Given the description of an element on the screen output the (x, y) to click on. 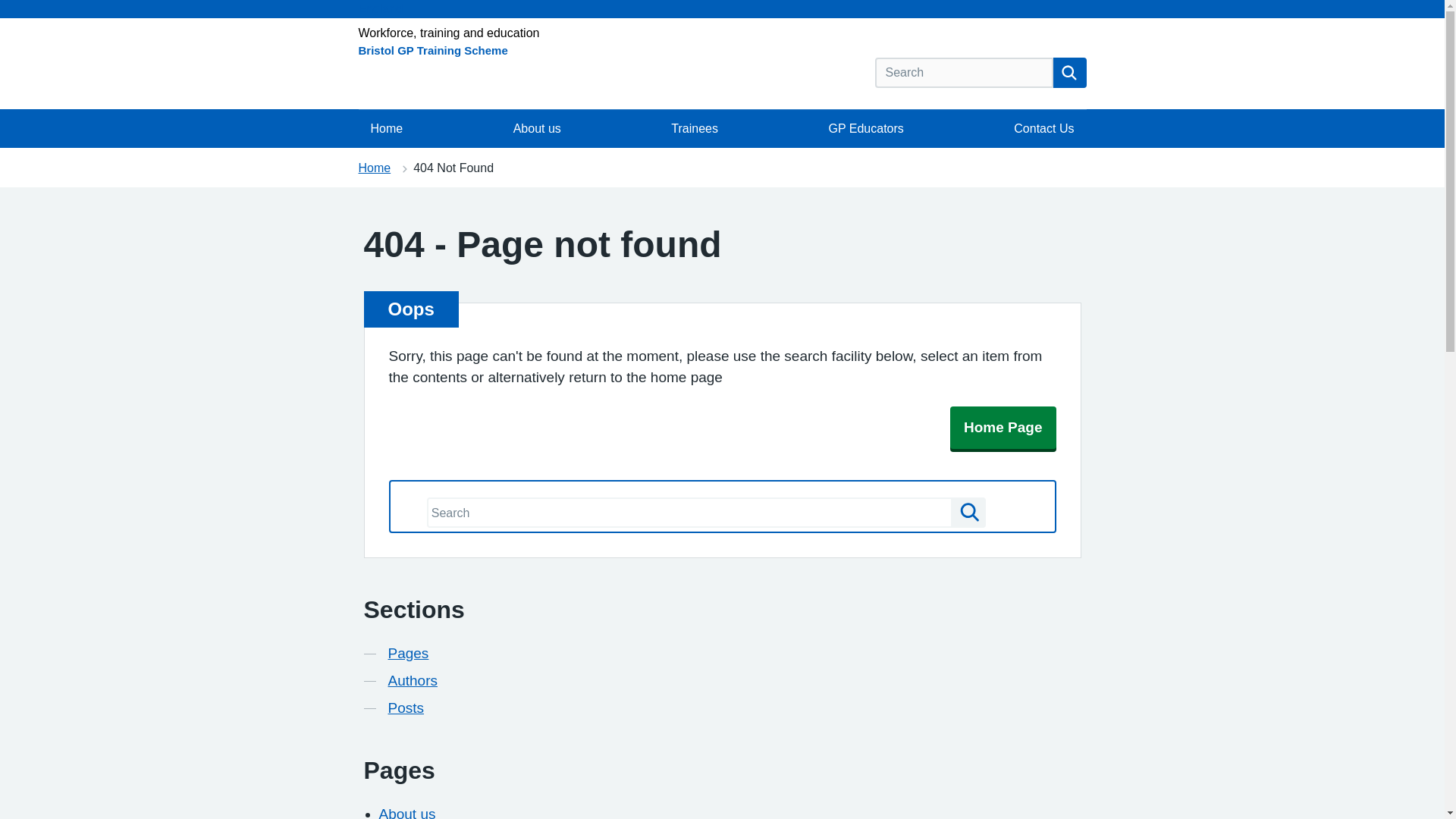
GP Educators (865, 128)
Search (968, 512)
Pages (408, 653)
Home Page (1002, 427)
Workforce, training and education (448, 32)
England (722, 9)
About us (536, 128)
Authors (413, 680)
Search (1069, 72)
NHS England (722, 9)
Home (374, 167)
Posts (406, 708)
Trainees (694, 128)
Bristol GP Training Scheme (432, 50)
About us (406, 812)
